Given the description of an element on the screen output the (x, y) to click on. 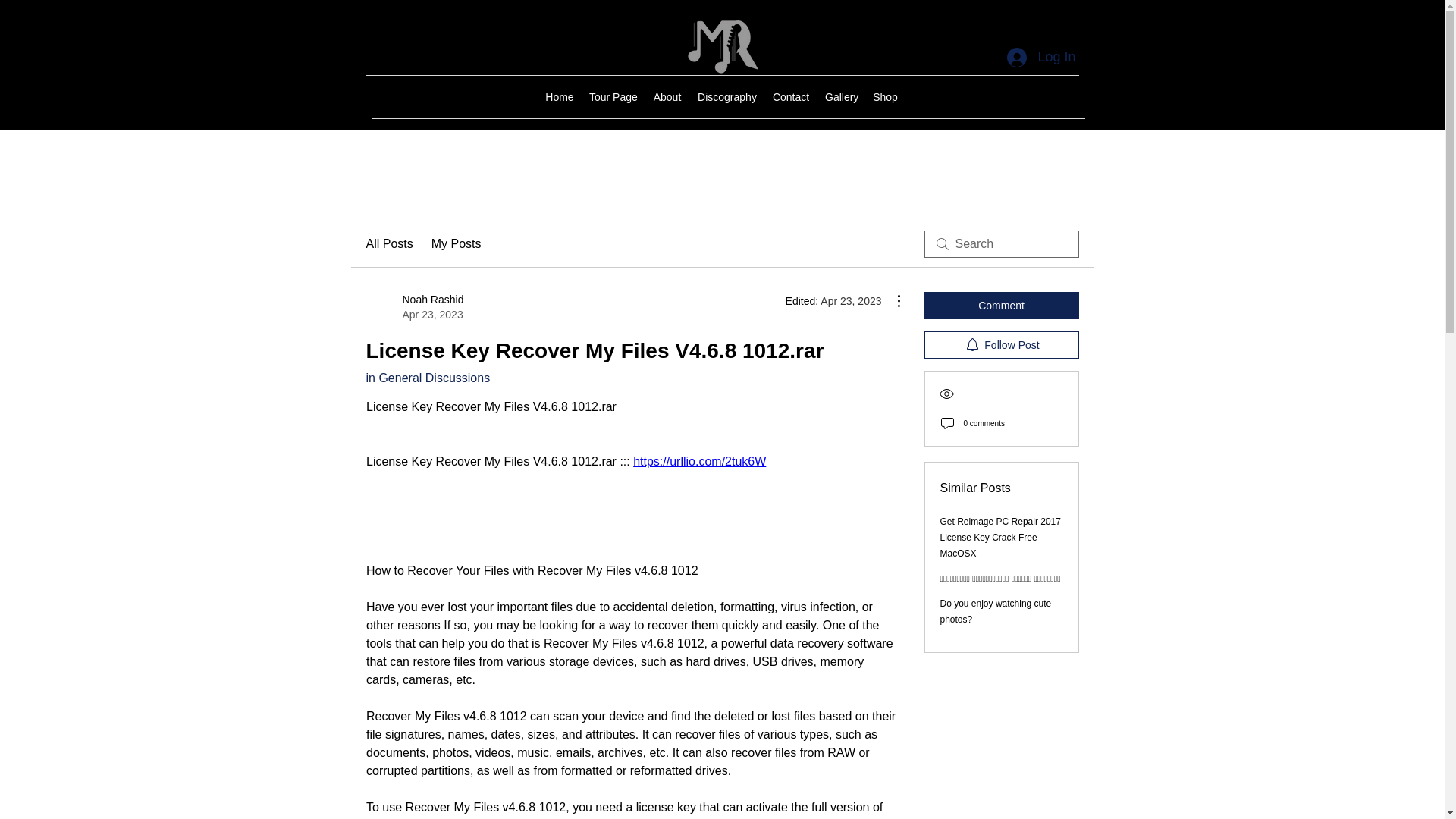
Do you enjoy watching cute photos? (995, 611)
in General Discussions (427, 377)
Gallery (840, 96)
Home (558, 96)
Get Reimage PC Repair 2017 License Key Crack Free MacOSX (414, 306)
Contact (1000, 537)
Follow Post (790, 96)
My Posts (1000, 344)
Shop (455, 244)
All Posts (884, 96)
Discography (388, 244)
Tour Page (727, 96)
Log In (612, 96)
About (1040, 57)
